Given the description of an element on the screen output the (x, y) to click on. 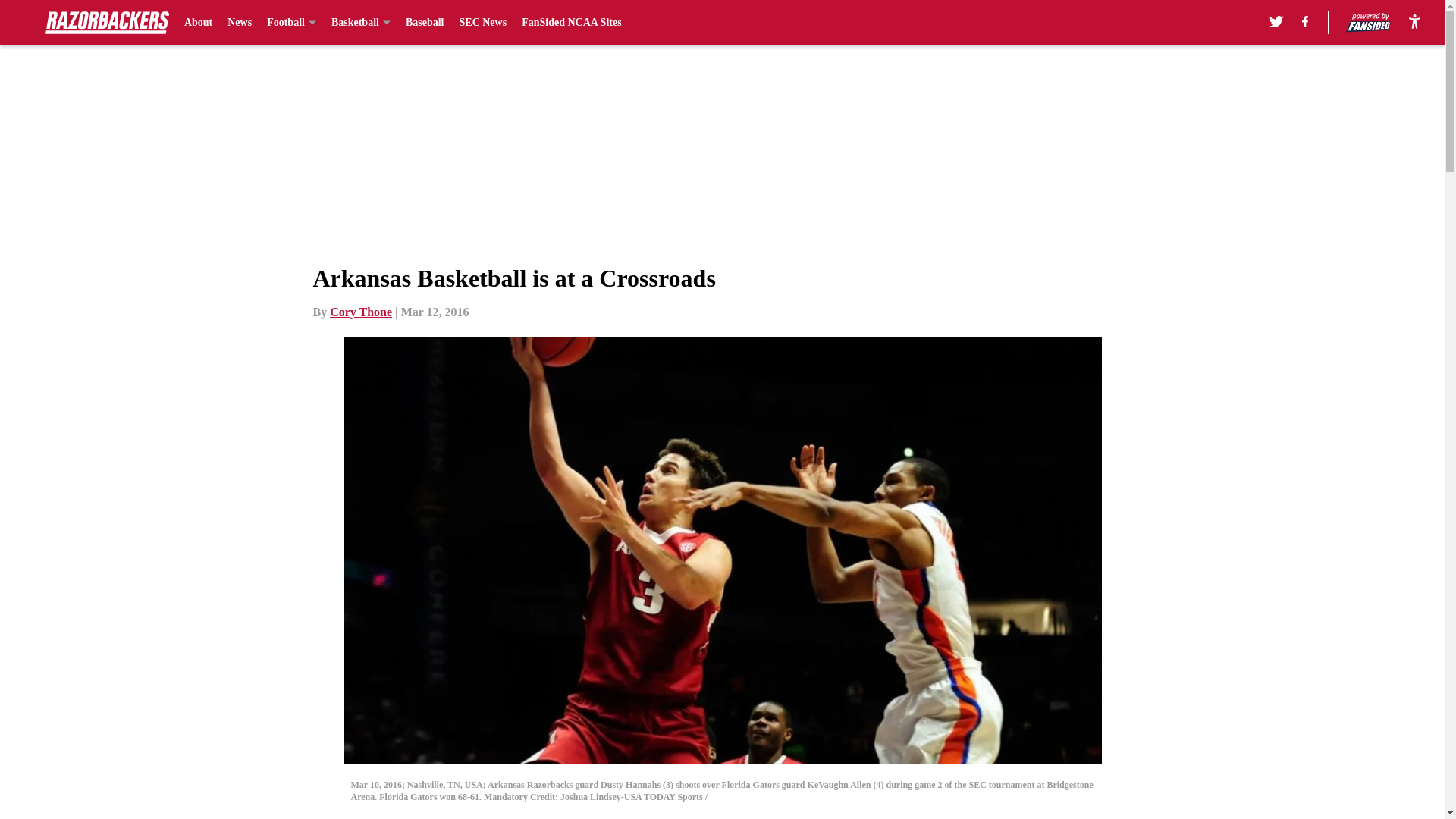
About (198, 22)
SEC News (483, 22)
News (239, 22)
Baseball (425, 22)
FanSided NCAA Sites (571, 22)
Cory Thone (360, 311)
